Given the description of an element on the screen output the (x, y) to click on. 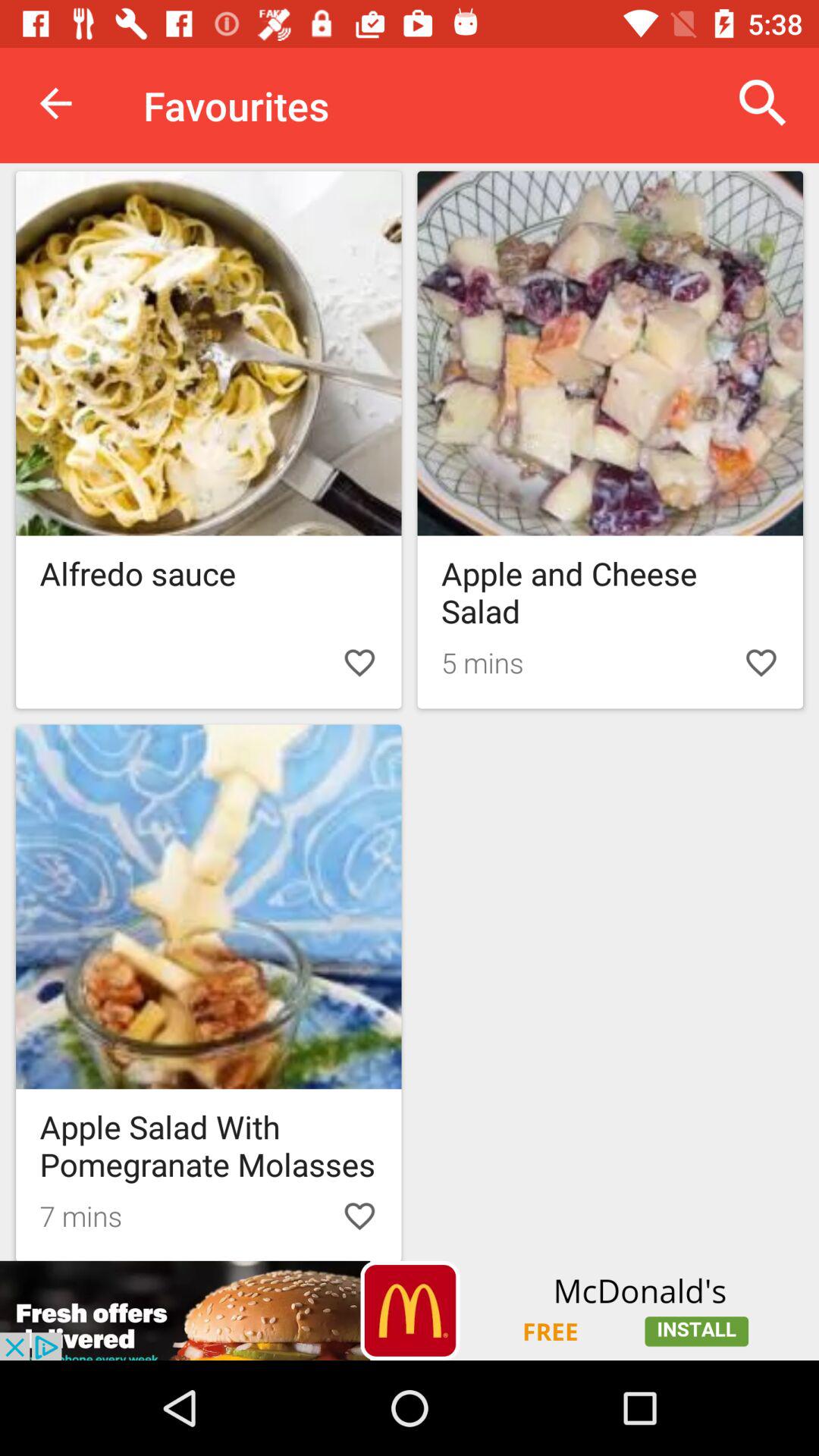
mcdonald 's button advertisement (409, 1310)
